Given the description of an element on the screen output the (x, y) to click on. 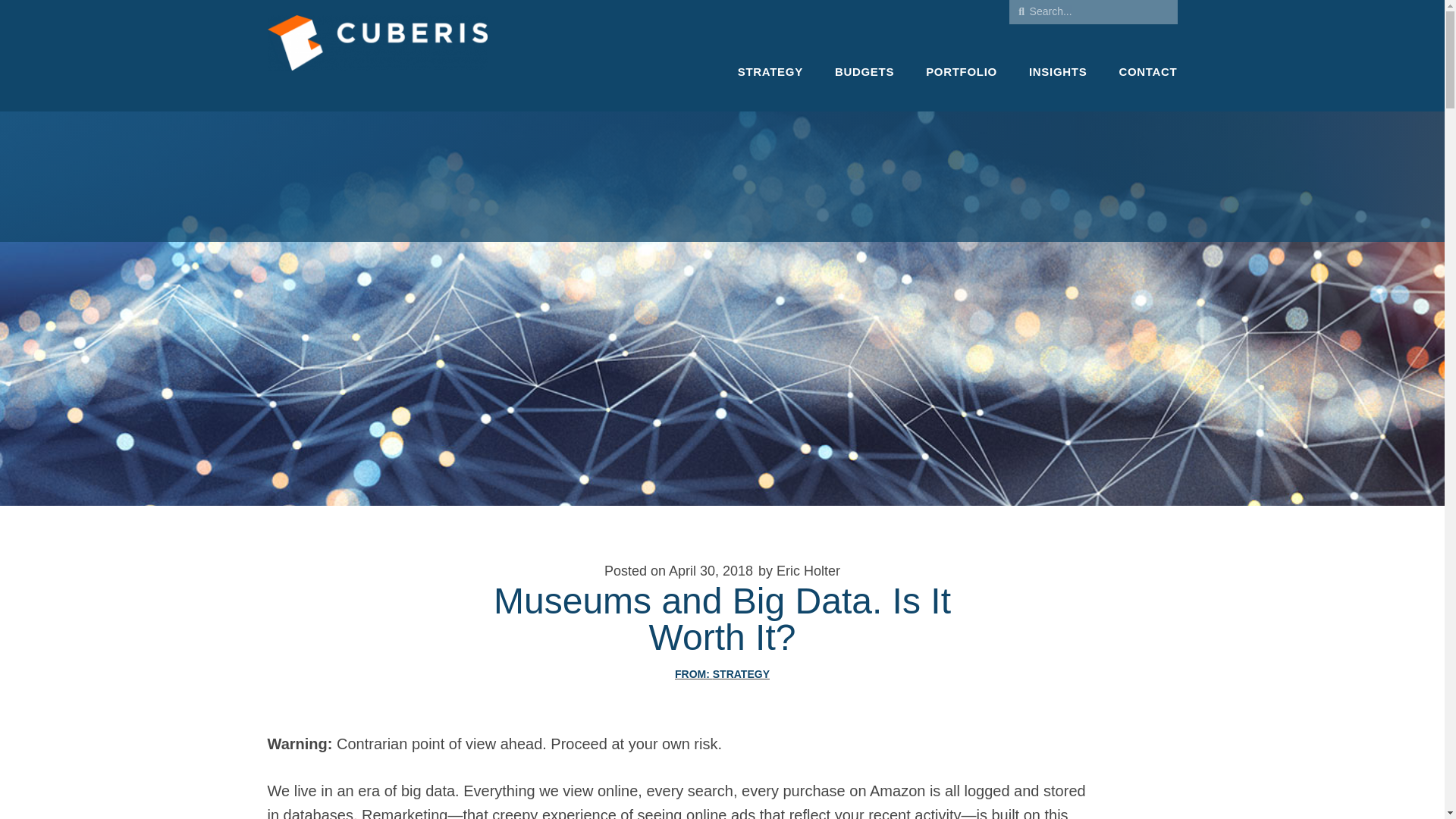
CONTACT (1147, 71)
BUDGETS (863, 71)
PORTFOLIO (961, 71)
STRATEGY (770, 71)
STRATEGY (741, 674)
INSIGHTS (1057, 71)
Cuberis-logo (376, 54)
